Given the description of an element on the screen output the (x, y) to click on. 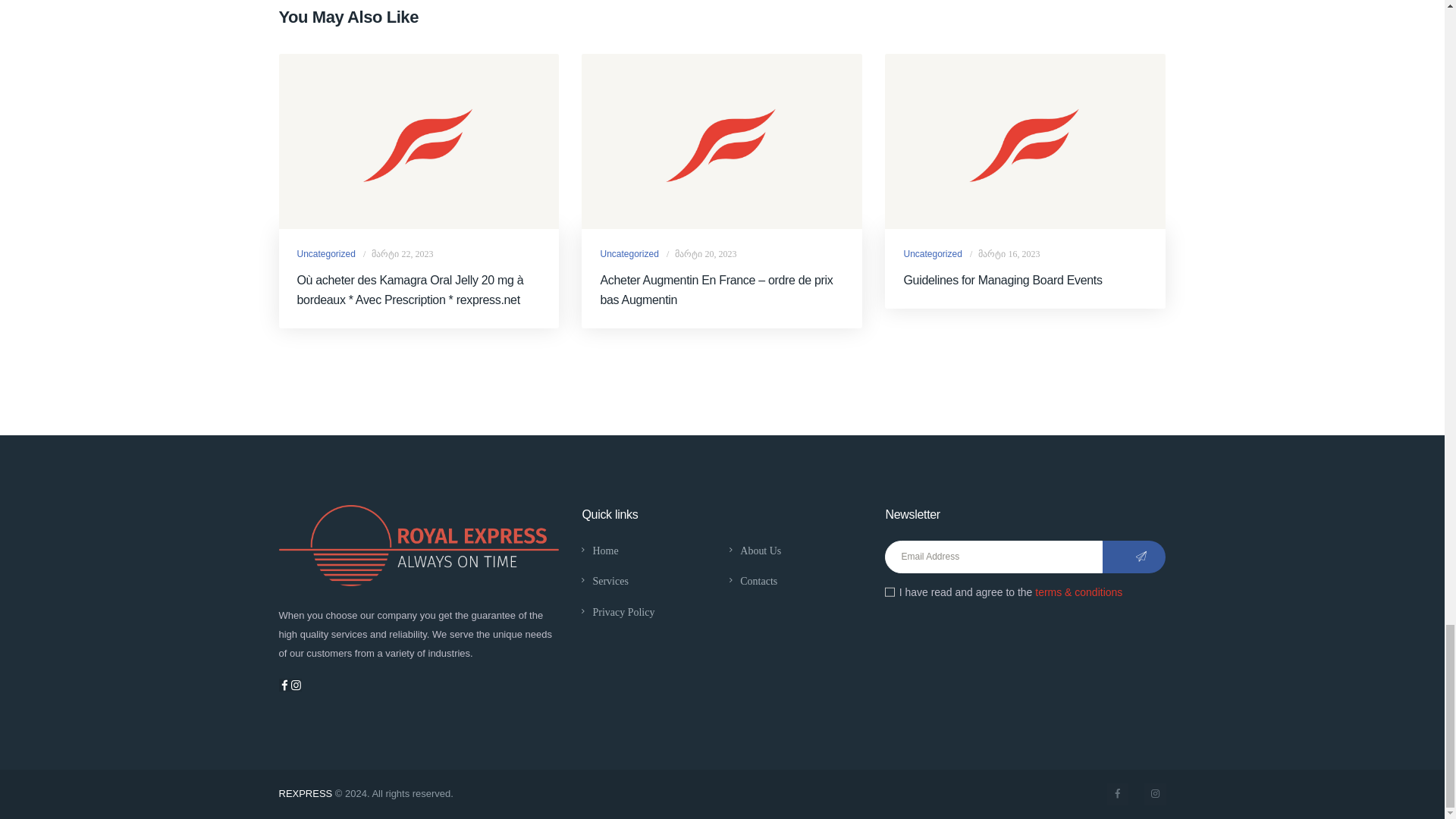
View all posts in Uncategorized (628, 253)
View all posts in Uncategorized (326, 253)
View all posts in Uncategorized (931, 253)
